Given the description of an element on the screen output the (x, y) to click on. 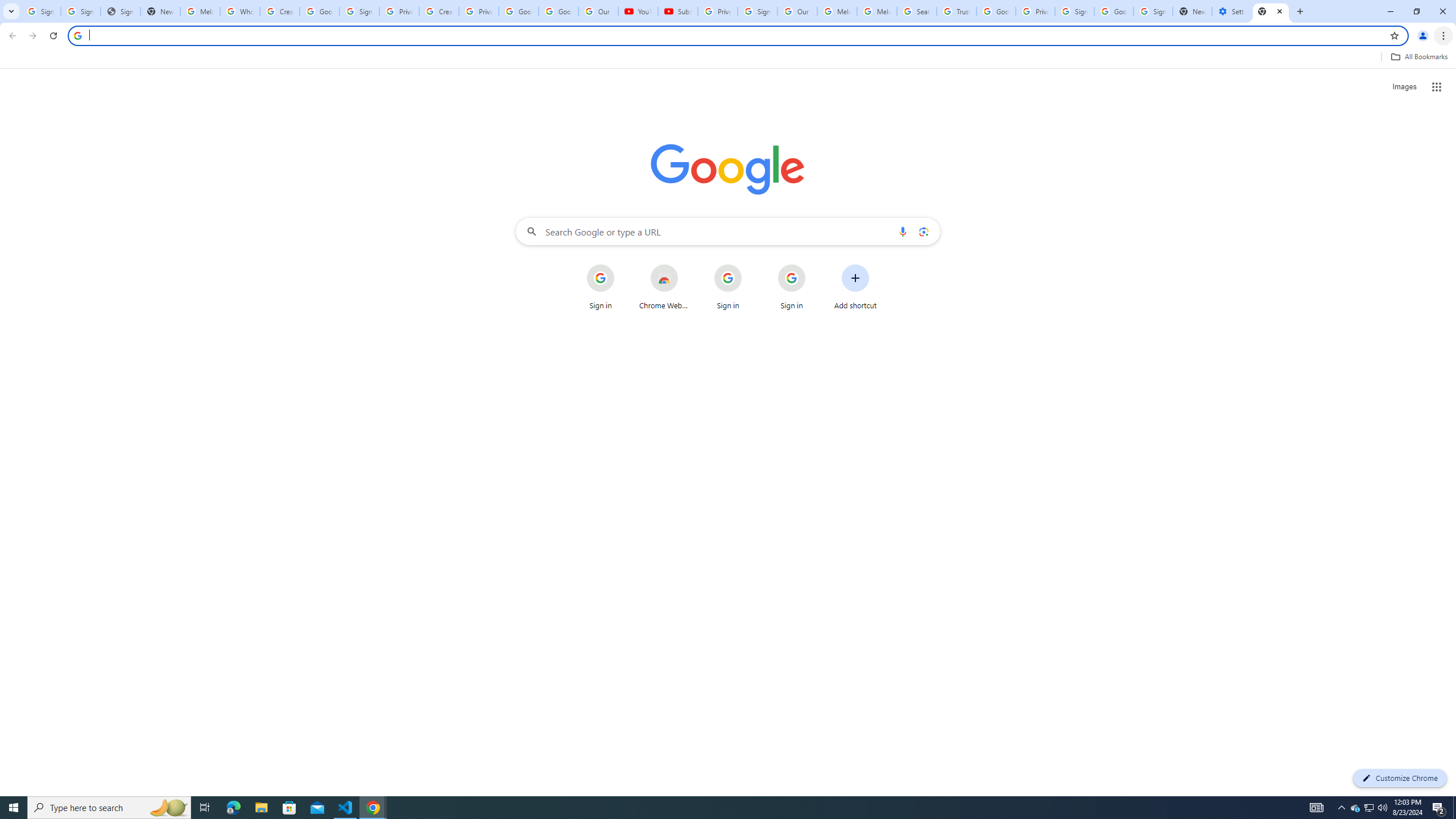
Chrome Web Store (663, 287)
Sign in - Google Accounts (757, 11)
Sign in - Google Accounts (359, 11)
Create your Google Account (279, 11)
Search by voice (902, 230)
Sign in - Google Accounts (1152, 11)
